Given the description of an element on the screen output the (x, y) to click on. 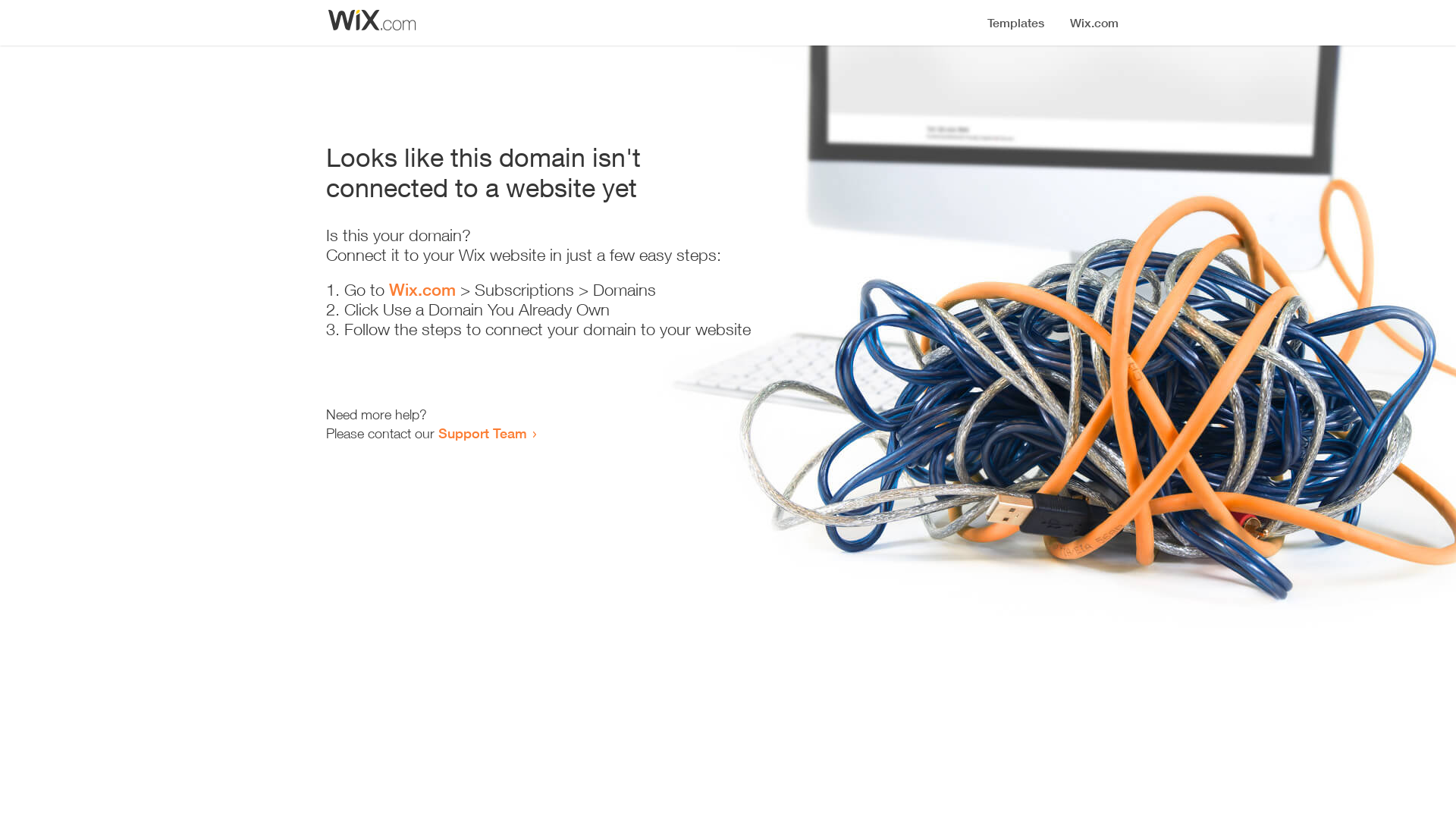
Support Team Element type: text (482, 432)
Wix.com Element type: text (422, 289)
